Given the description of an element on the screen output the (x, y) to click on. 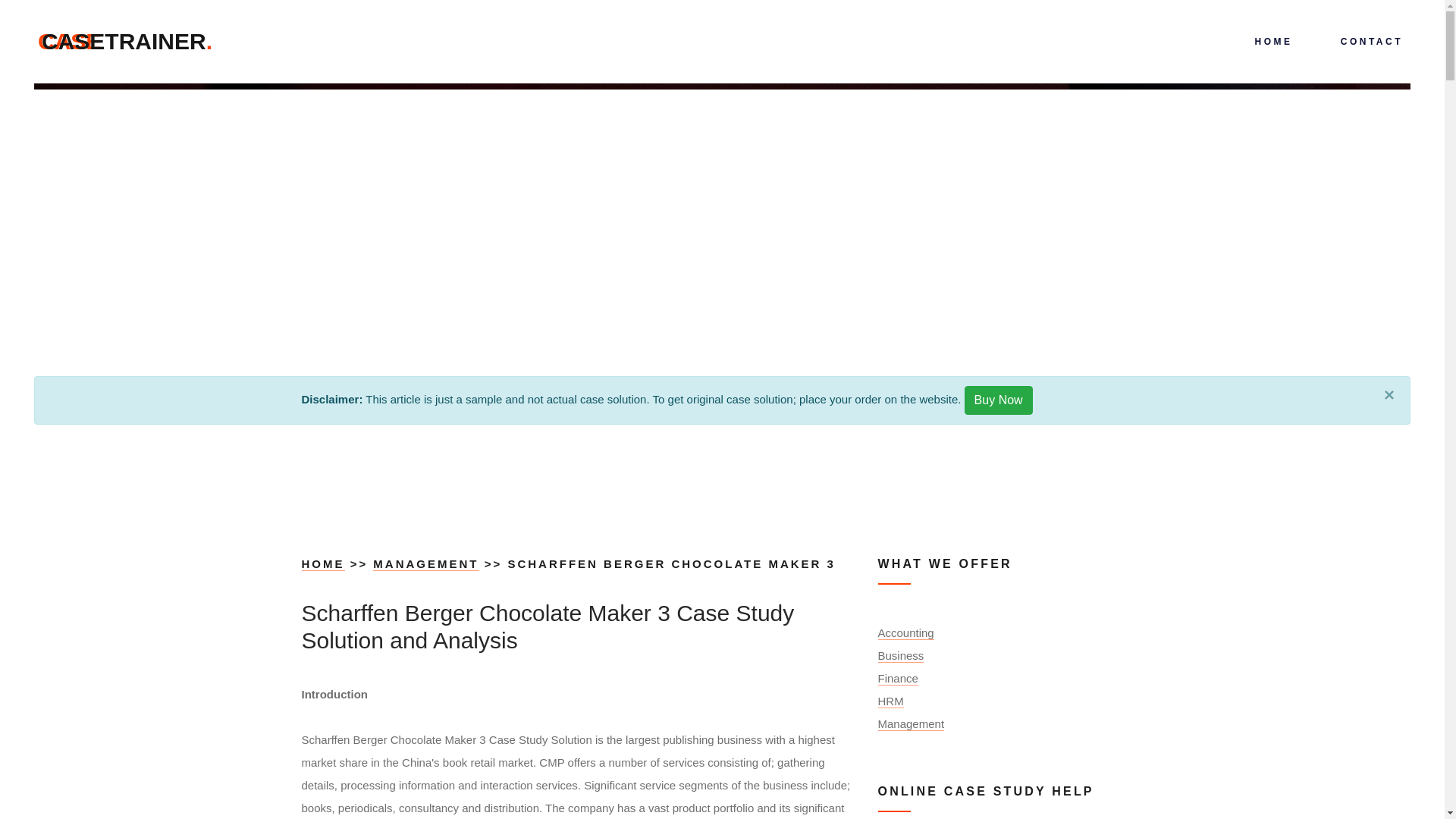
Buy Now (997, 399)
HOME (323, 563)
CONTACT (127, 41)
MANAGEMENT (1370, 41)
